Given the description of an element on the screen output the (x, y) to click on. 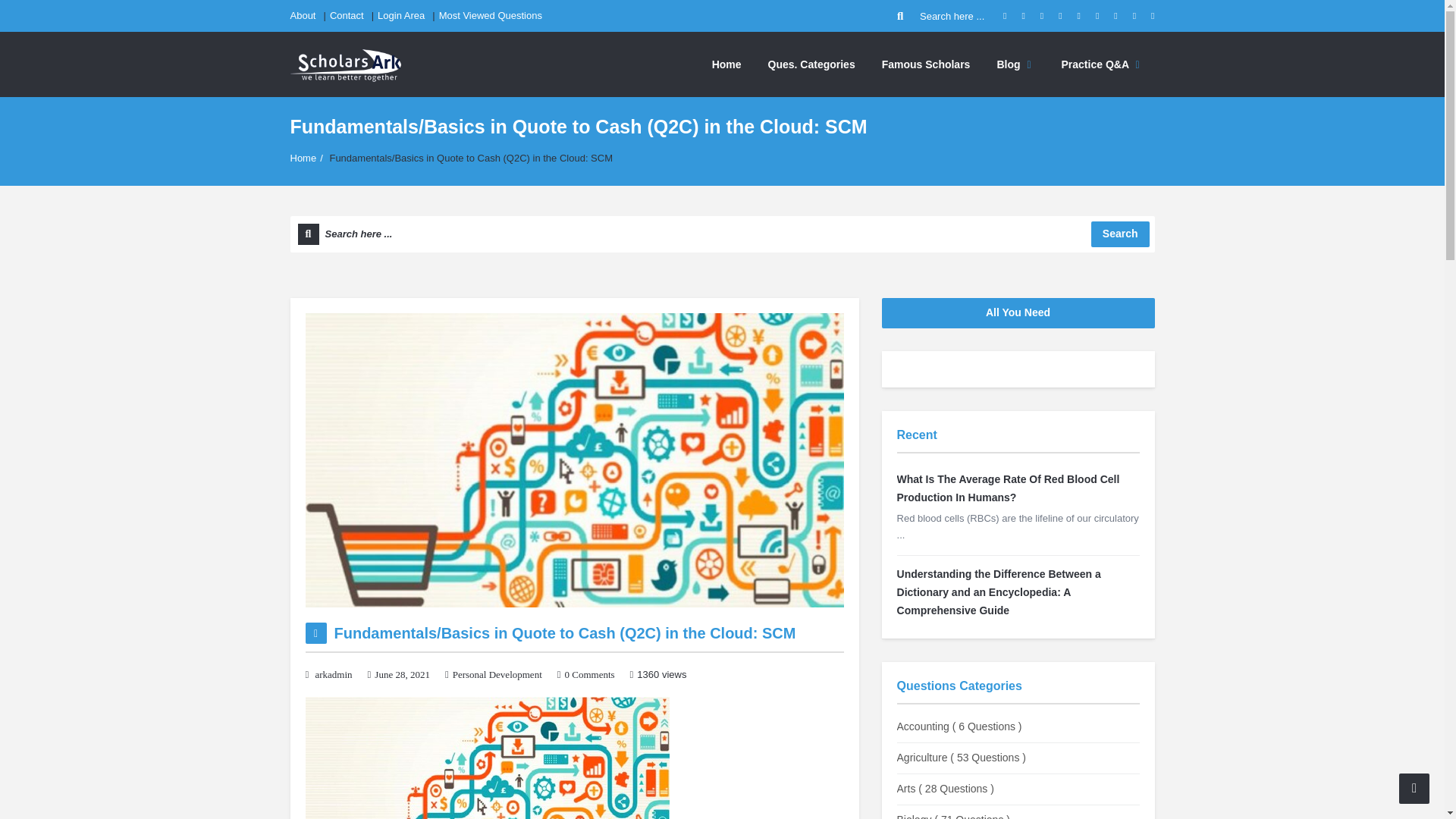
Search here ... (942, 15)
Search here ... (721, 234)
Search here ... (721, 234)
Posts by arkadmin (333, 674)
Scholars Ark (344, 64)
Search here ... (942, 15)
